Given the description of an element on the screen output the (x, y) to click on. 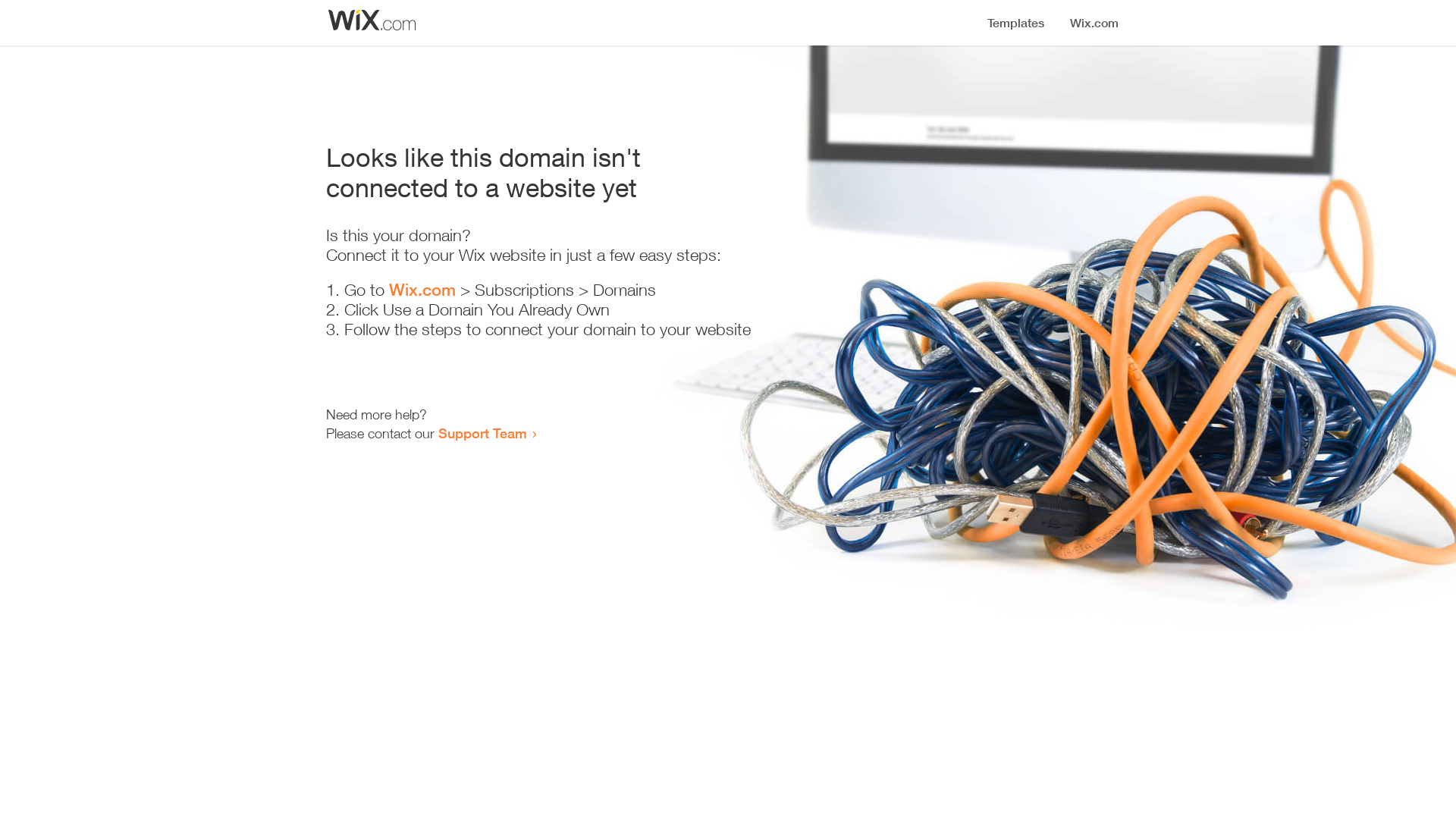
Wix.com Element type: text (422, 289)
Support Team Element type: text (482, 432)
